Given the description of an element on the screen output the (x, y) to click on. 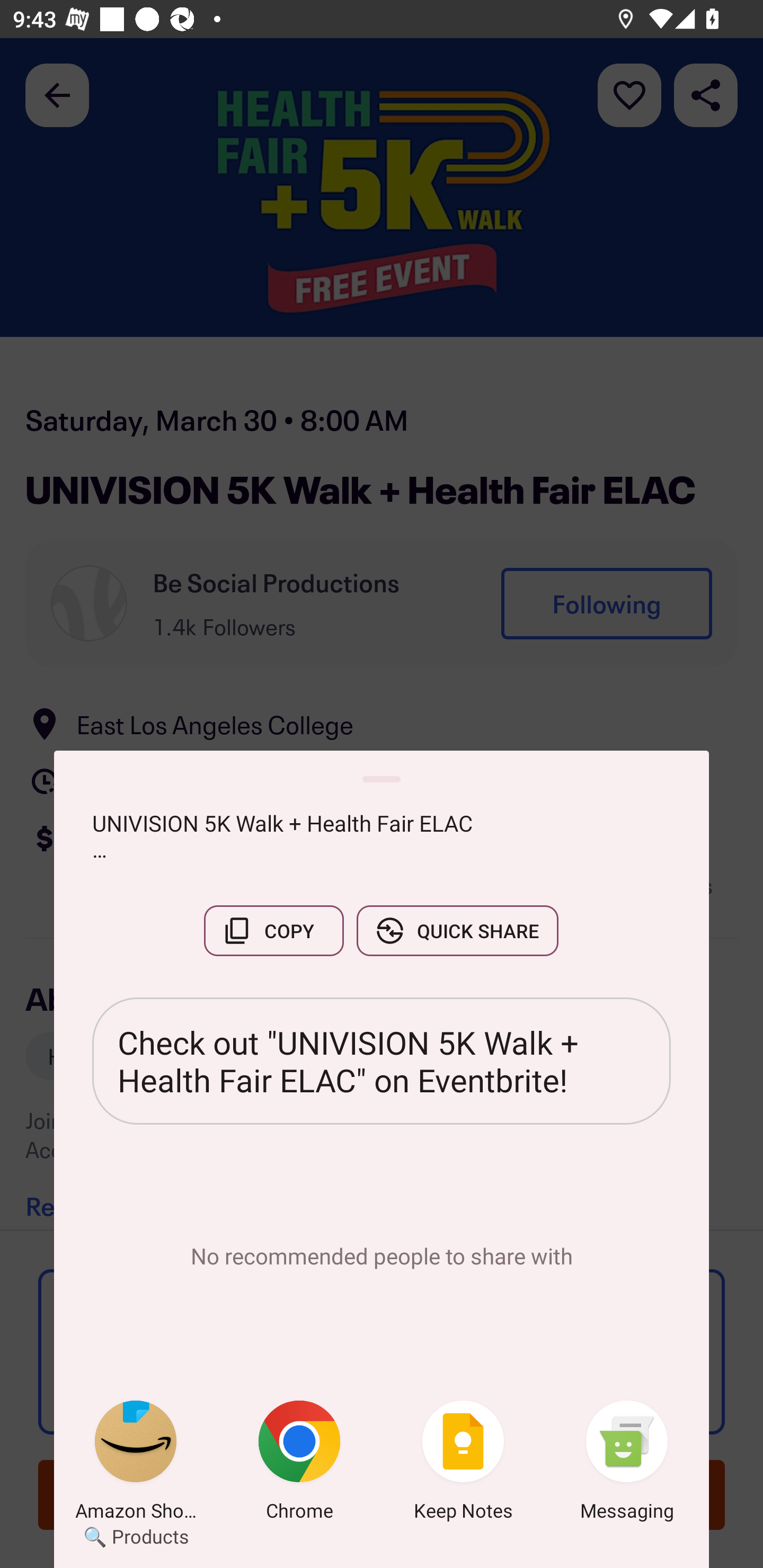
COPY (273, 930)
QUICK SHARE (457, 930)
Amazon Shopping 🔍 Products (135, 1463)
Chrome (299, 1463)
Keep Notes (463, 1463)
Messaging (626, 1463)
